Given the description of an element on the screen output the (x, y) to click on. 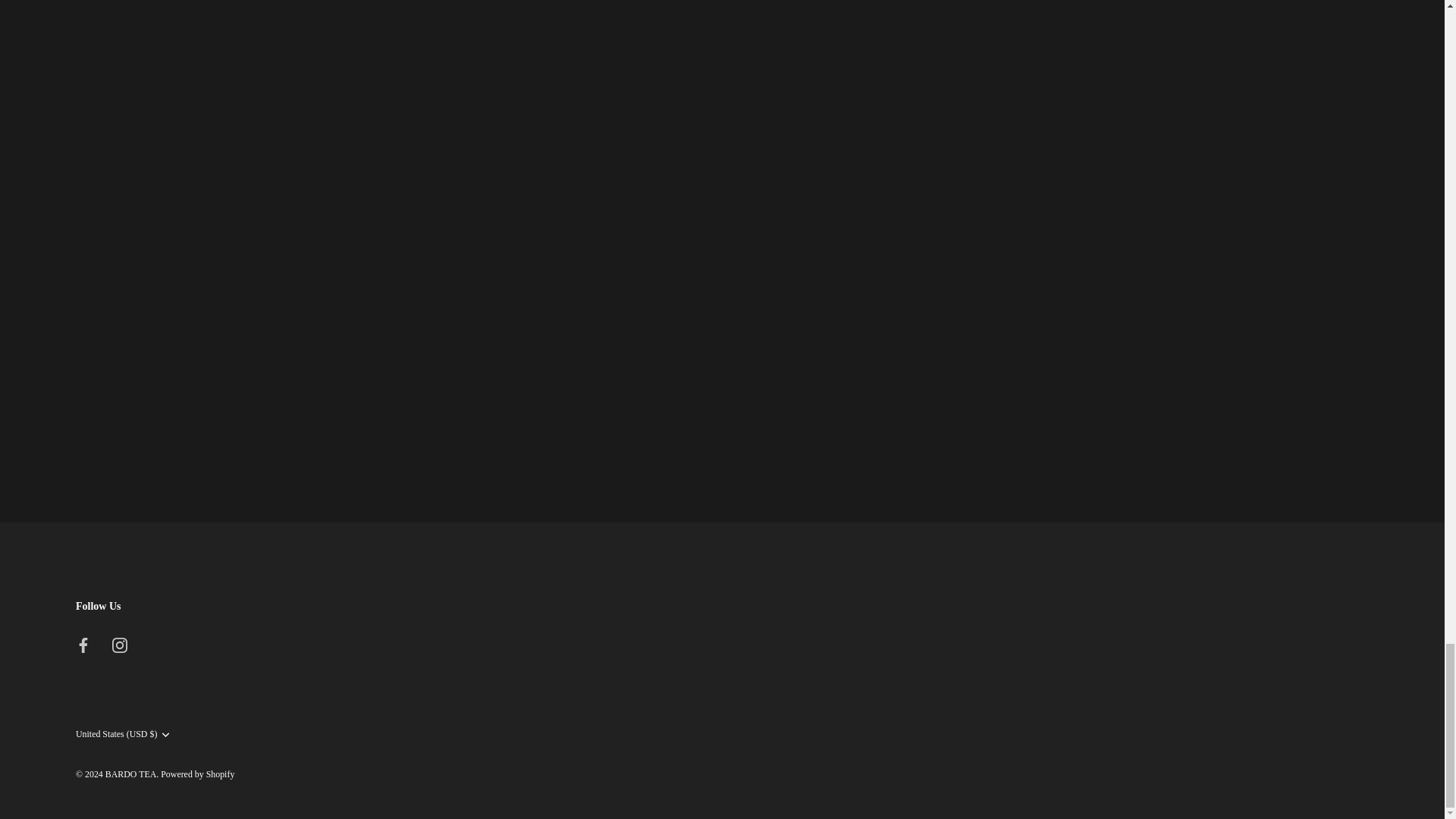
Instagram (120, 645)
